Given the description of an element on the screen output the (x, y) to click on. 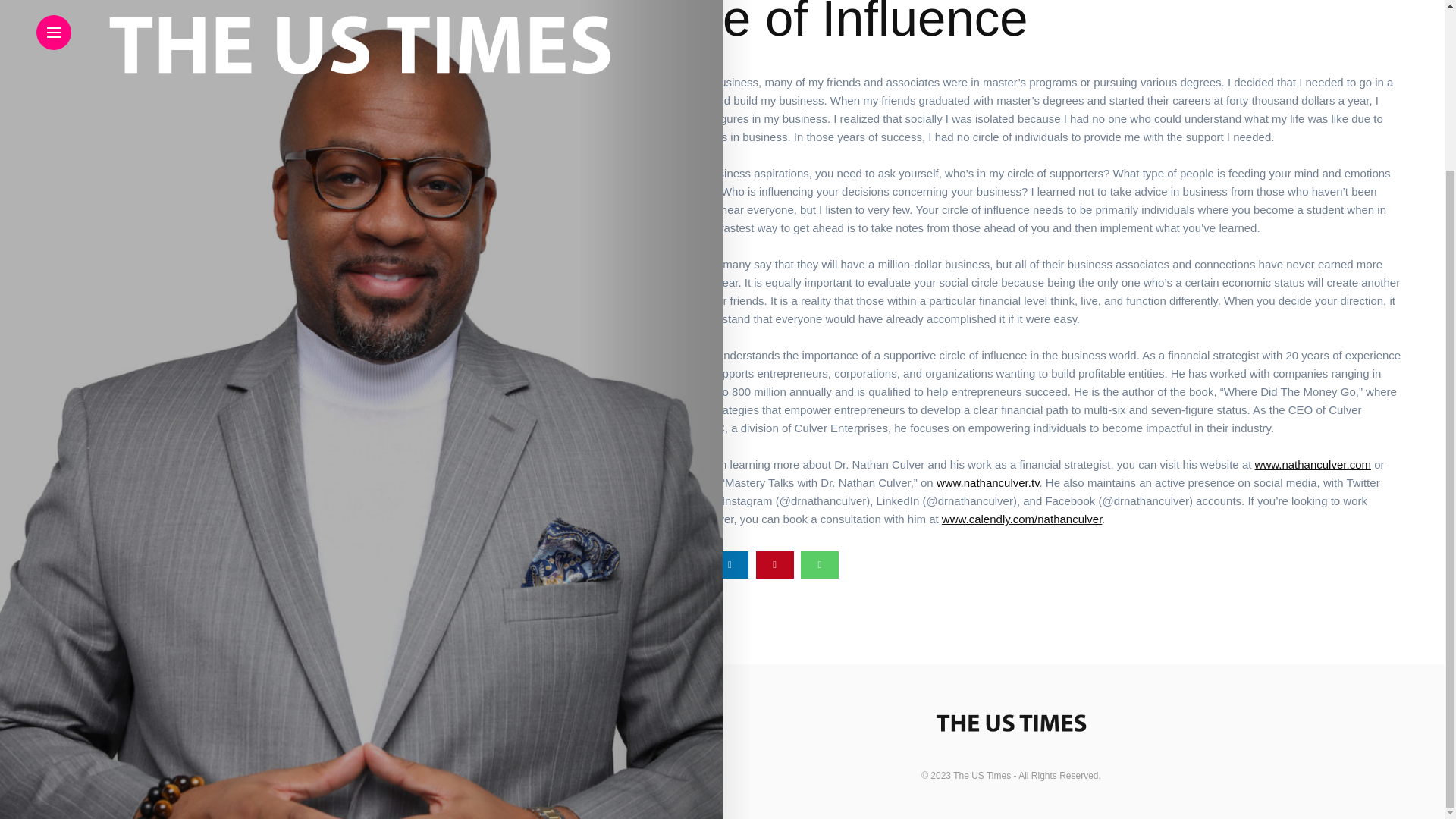
www.nathanculver.tv (958, 481)
www.nathanculver.com (1261, 463)
facebook (640, 564)
